Given the description of an element on the screen output the (x, y) to click on. 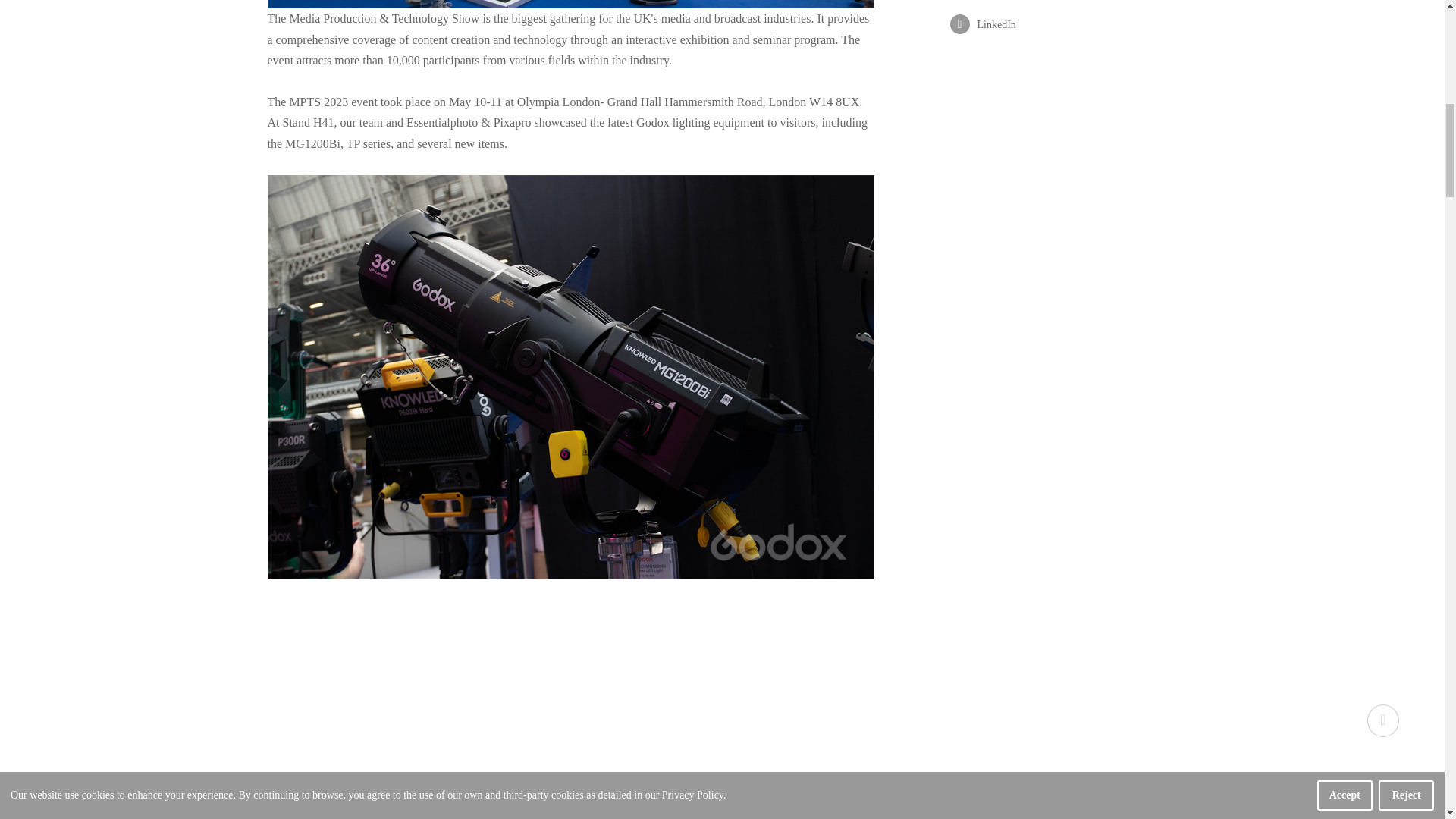
1693989939192762.jpg (569, 4)
